Given the description of an element on the screen output the (x, y) to click on. 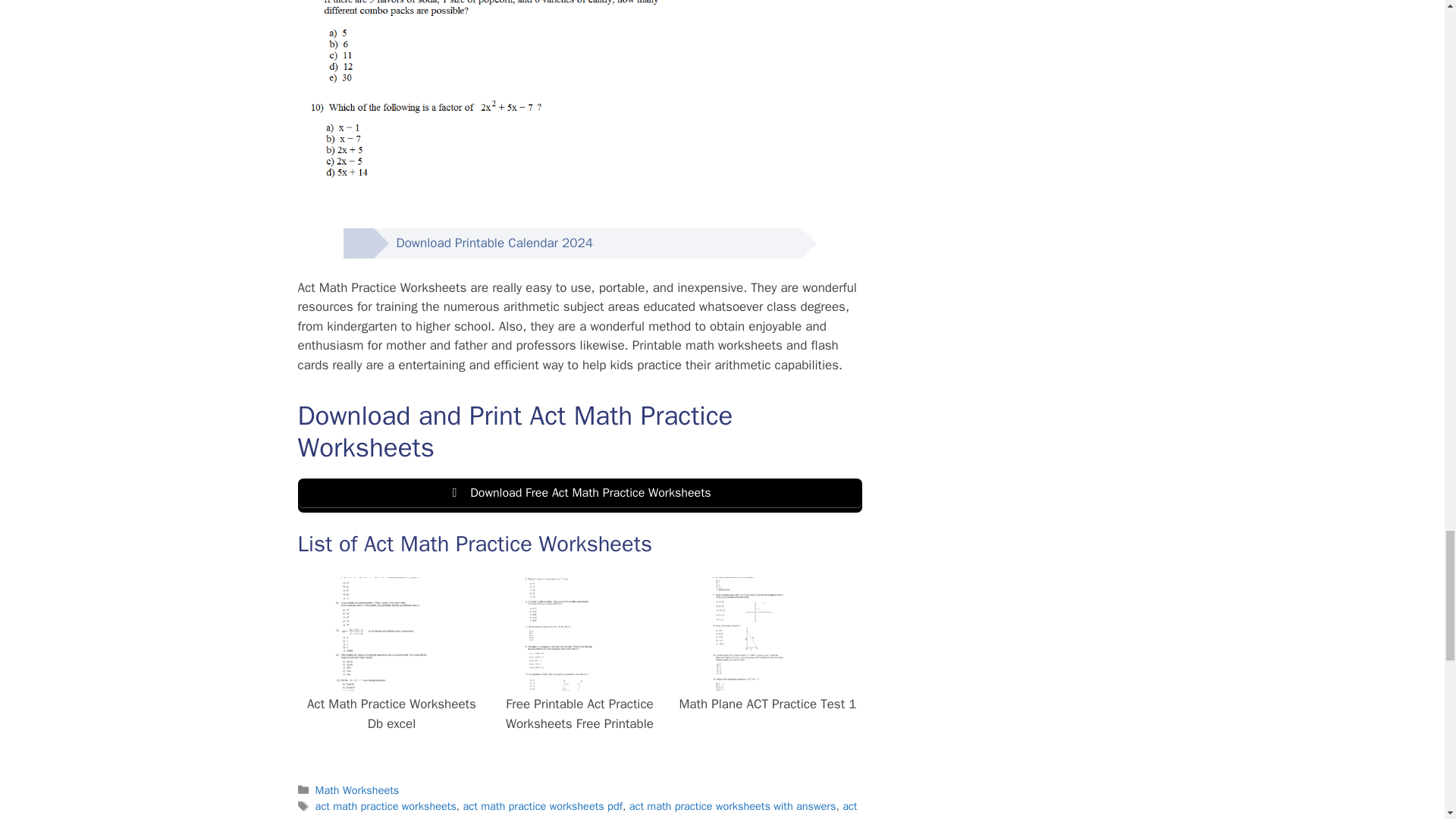
act prep math worksheets pdf answer key (577, 809)
act math practice worksheets pdf (543, 806)
act math practice worksheets with answers (731, 806)
free printable act math practice worksheets (590, 817)
act math practice worksheets (386, 806)
how to practice act math (759, 817)
Download Free Act Math Practice Worksheets (579, 495)
Download Printable Calendar 2024 (482, 242)
Math Worksheets (356, 789)
